Given the description of an element on the screen output the (x, y) to click on. 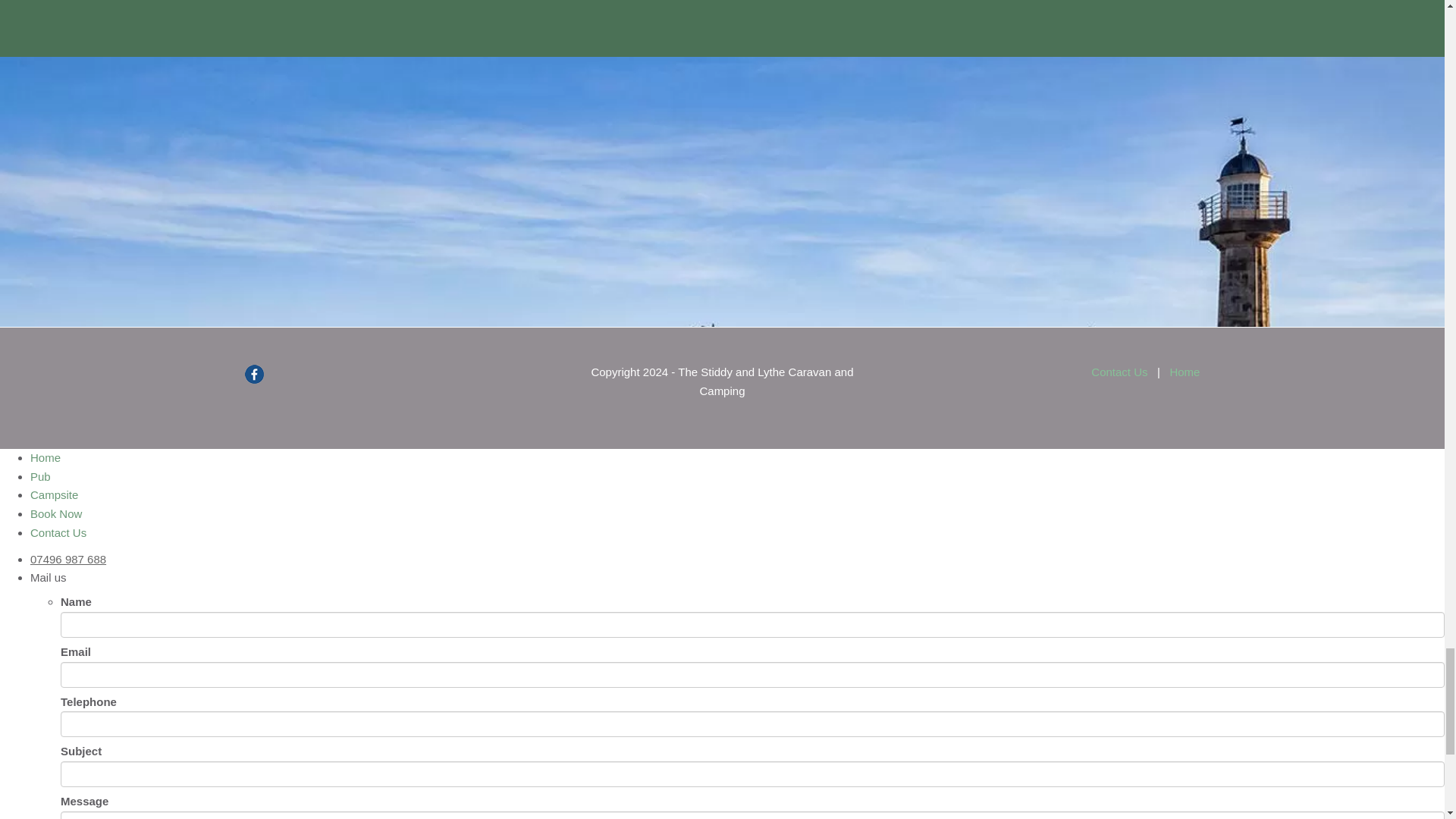
Contact Us (57, 532)
Book Now (55, 513)
07496 987 688 (68, 558)
Pub (40, 476)
Campsite (54, 494)
Home (1184, 371)
Contact Us (1118, 371)
Home (45, 457)
